Given the description of an element on the screen output the (x, y) to click on. 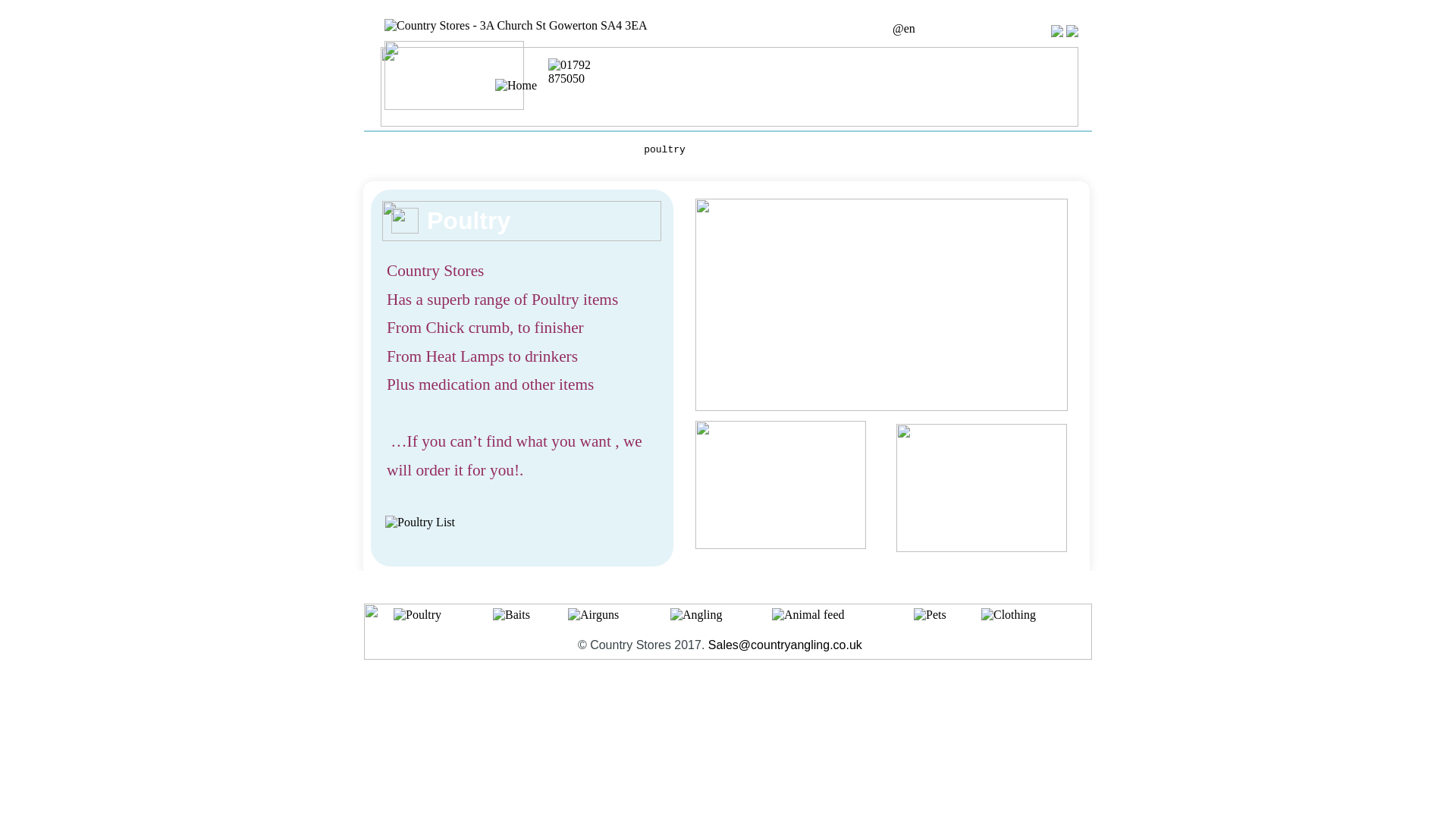
clothing (804, 151)
baits (555, 151)
poultry (664, 151)
home (445, 151)
about us (1009, 151)
airguns (864, 151)
Share via e-mail (1056, 30)
animal feed (732, 151)
fishing (500, 151)
Print (1071, 30)
